Given the description of an element on the screen output the (x, y) to click on. 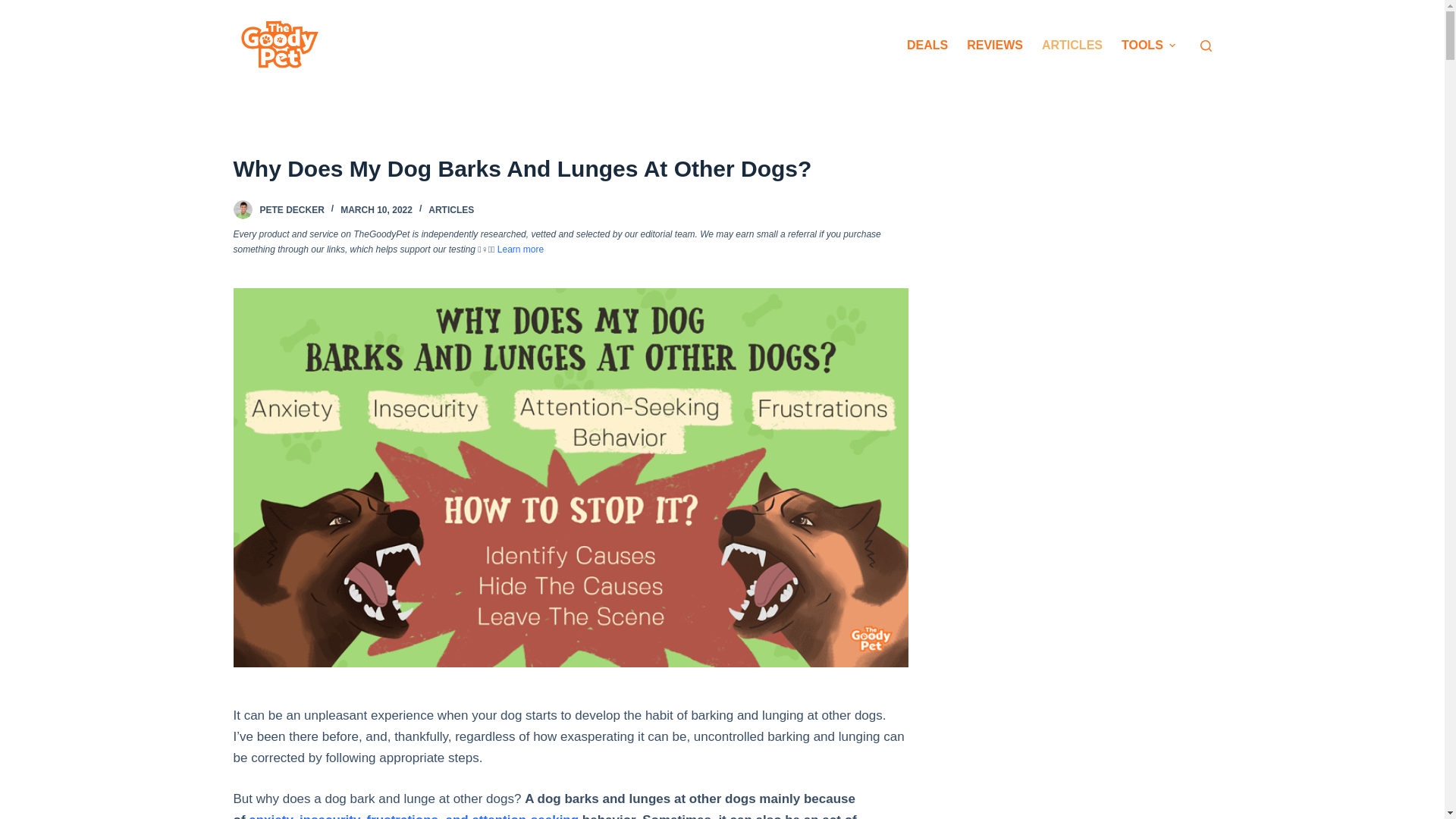
Why Does My Dog Barks And Lunges At Other Dogs? (570, 168)
Posts by Pete Decker (291, 209)
Skip to content (15, 7)
